Given the description of an element on the screen output the (x, y) to click on. 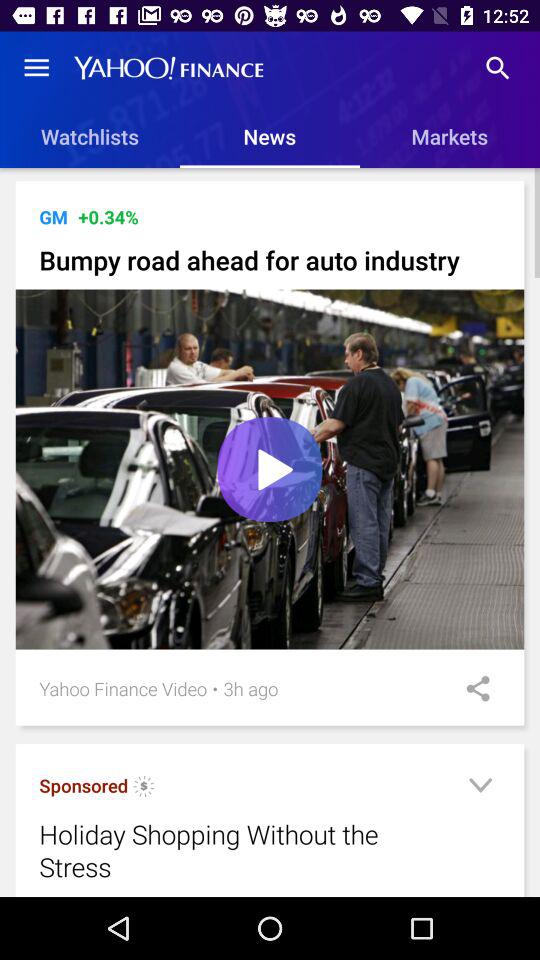
launch icon above holiday shopping without (83, 785)
